Given the description of an element on the screen output the (x, y) to click on. 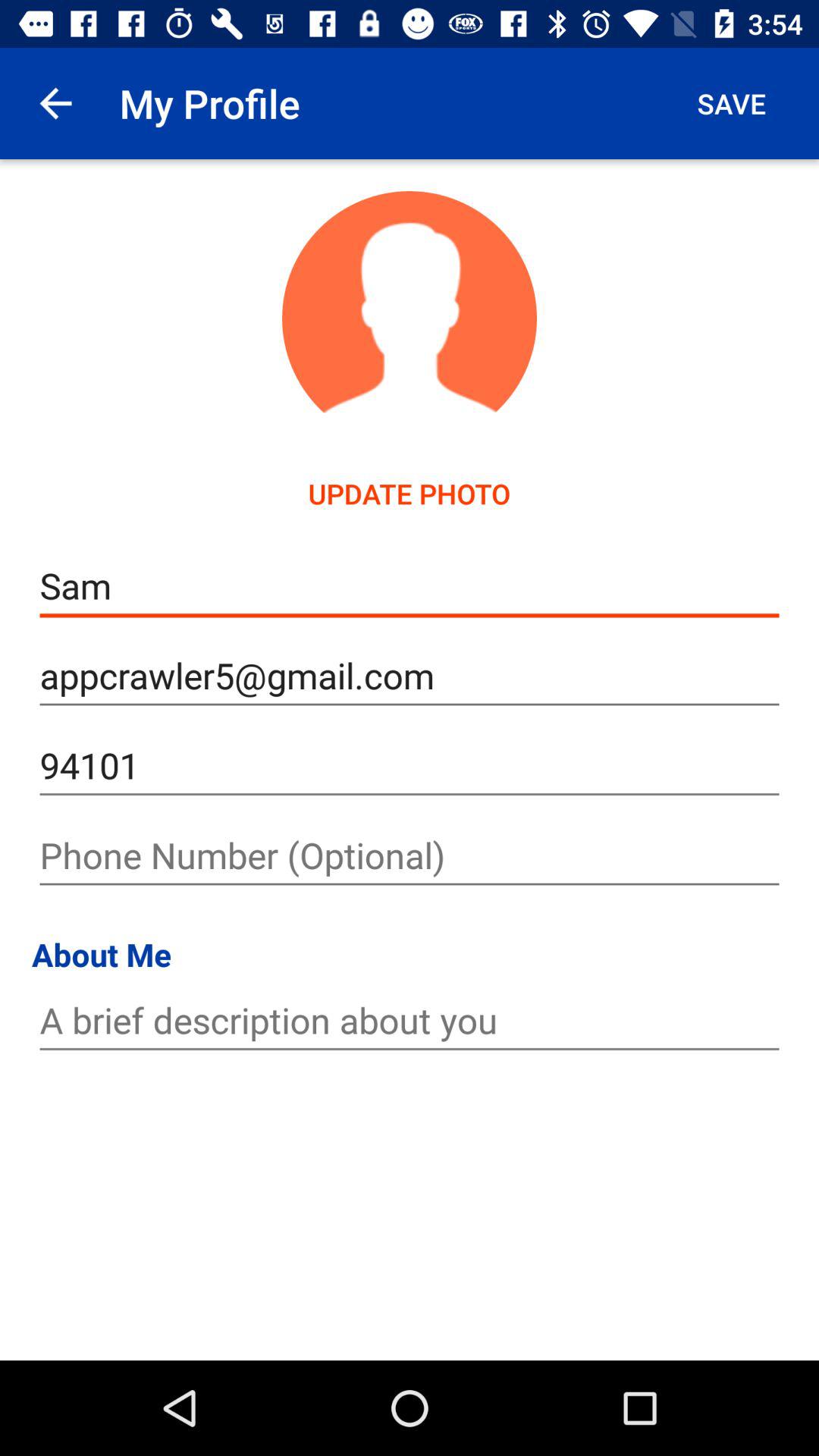
add brief self description (409, 1020)
